Given the description of an element on the screen output the (x, y) to click on. 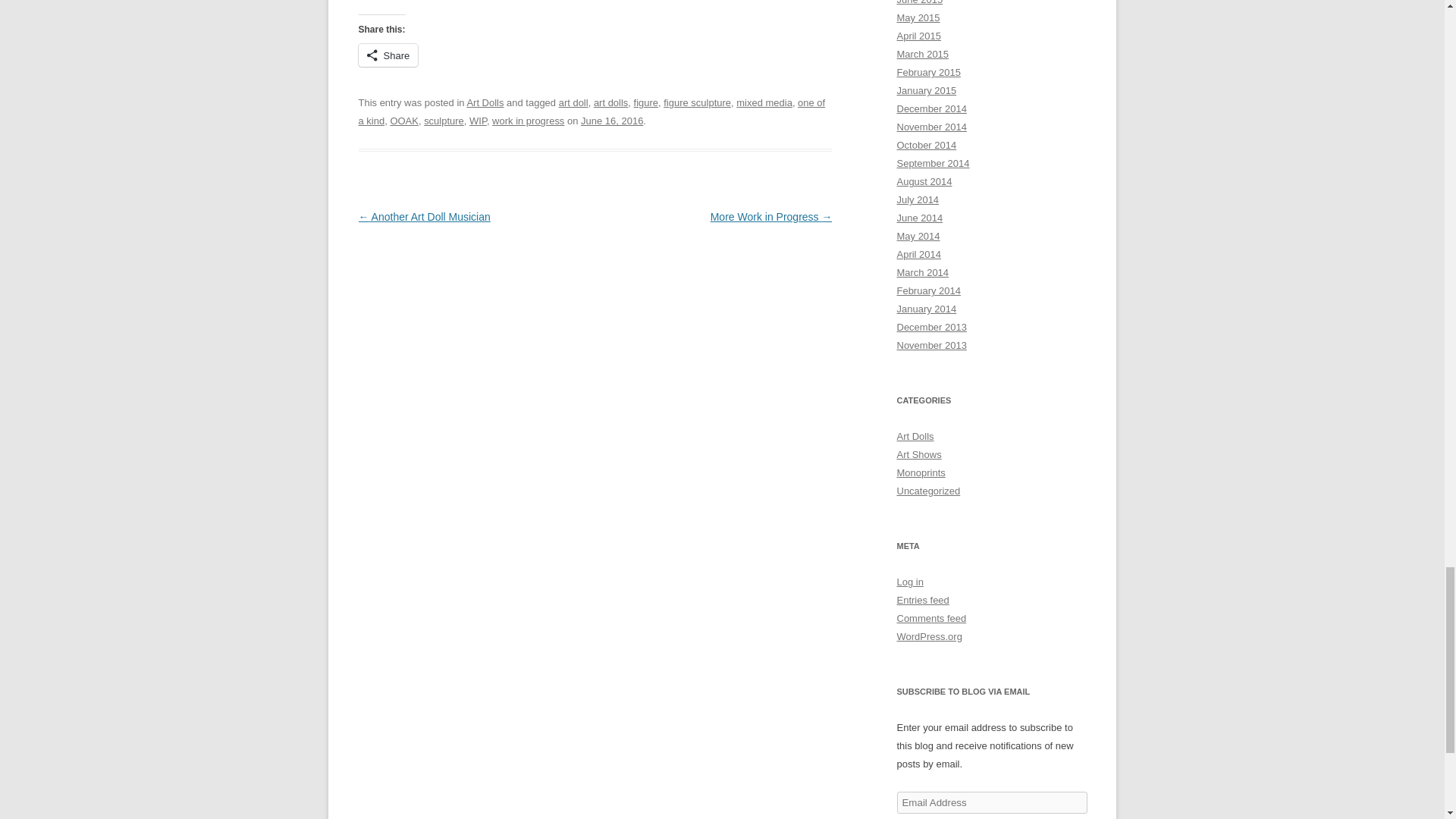
art dolls (610, 102)
OOAK (404, 120)
June 16, 2016 (611, 120)
Art Dolls (484, 102)
art doll (573, 102)
WIP (477, 120)
Share (387, 55)
one of a kind (591, 111)
work in progress (528, 120)
sculpture (443, 120)
